Given the description of an element on the screen output the (x, y) to click on. 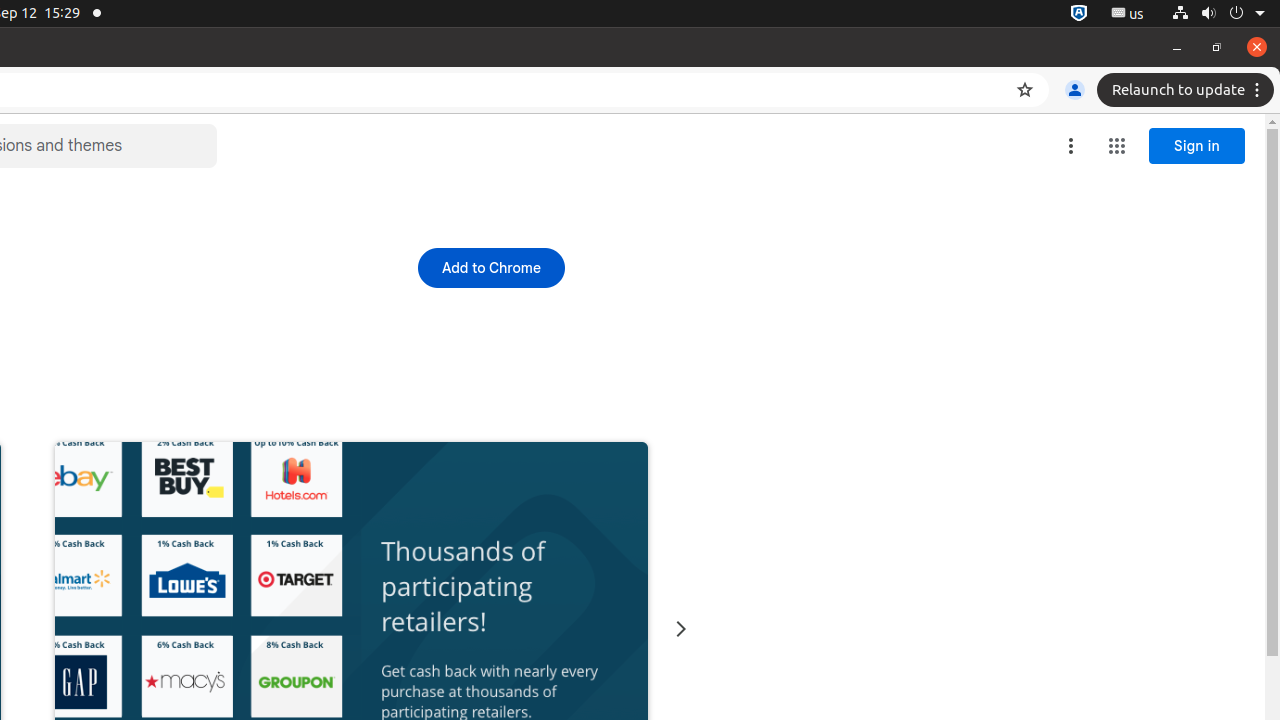
Sign in Element type: link (1197, 146)
:1.72/StatusNotifierItem Element type: menu (1079, 13)
Next slide Element type: push-button (680, 629)
You Element type: push-button (1075, 90)
Bookmark this tab Element type: push-button (1025, 90)
